Given the description of an element on the screen output the (x, y) to click on. 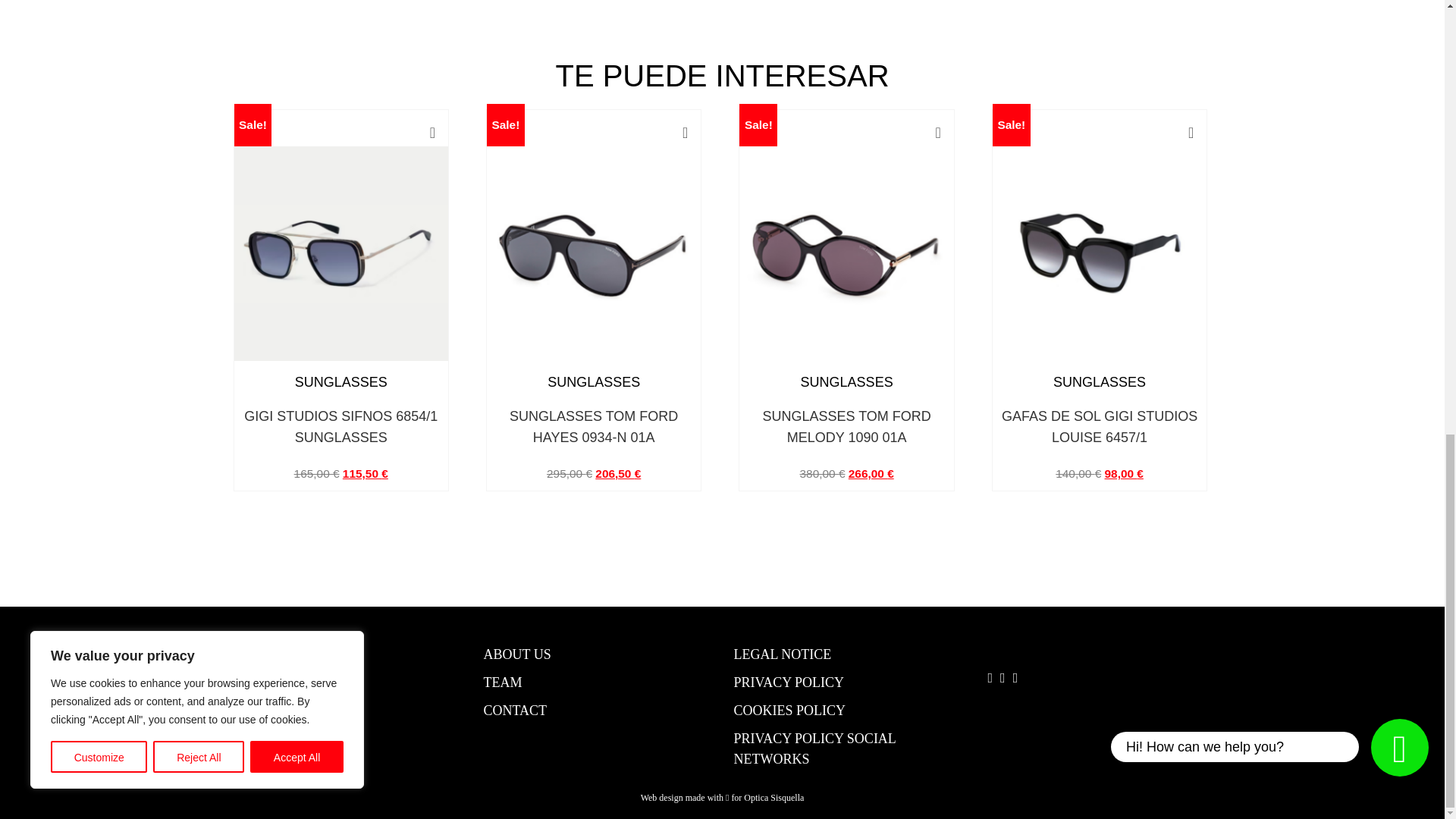
SUNGLASSES TOM FORD HAYES 0934-N 01A (593, 426)
SUNGLASSES TOM FORD MELODY 1090 01A (846, 426)
OPTICA SISQUELLA (305, 682)
